Given the description of an element on the screen output the (x, y) to click on. 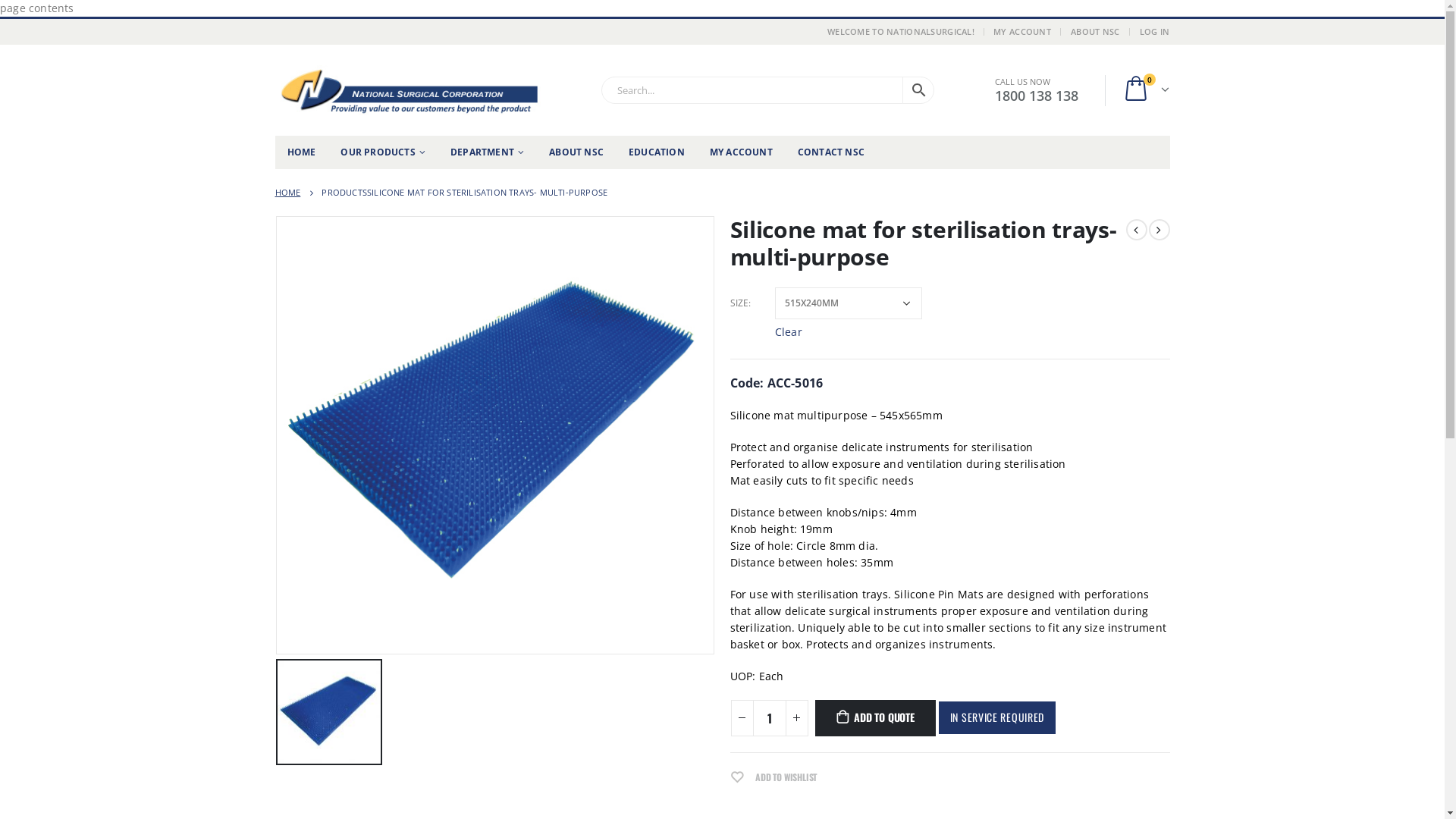
ADD TO QUOTE Element type: text (874, 717)
Qty Element type: hover (768, 717)
- Element type: text (742, 717)
MY ACCOUNT Element type: text (1023, 31)
MY ACCOUNT Element type: text (740, 152)
ADD TO WISHLIST Element type: text (772, 777)
DEPARTMENT Element type: text (487, 152)
acc-5015-silicone-mat Element type: hover (494, 434)
HOME Element type: text (300, 152)
ABOUT NSC Element type: text (575, 152)
CONTACT NSC Element type: text (830, 152)
ABOUT NSC Element type: text (1094, 31)
EDUCATION Element type: text (656, 152)
+ Element type: text (796, 717)
IN SERVICE REQUIRED Element type: text (996, 717)
HOME Element type: text (287, 192)
Clear Element type: text (788, 328)
LOG IN Element type: text (1152, 31)
OUR PRODUCTS Element type: text (382, 152)
